Given the description of an element on the screen output the (x, y) to click on. 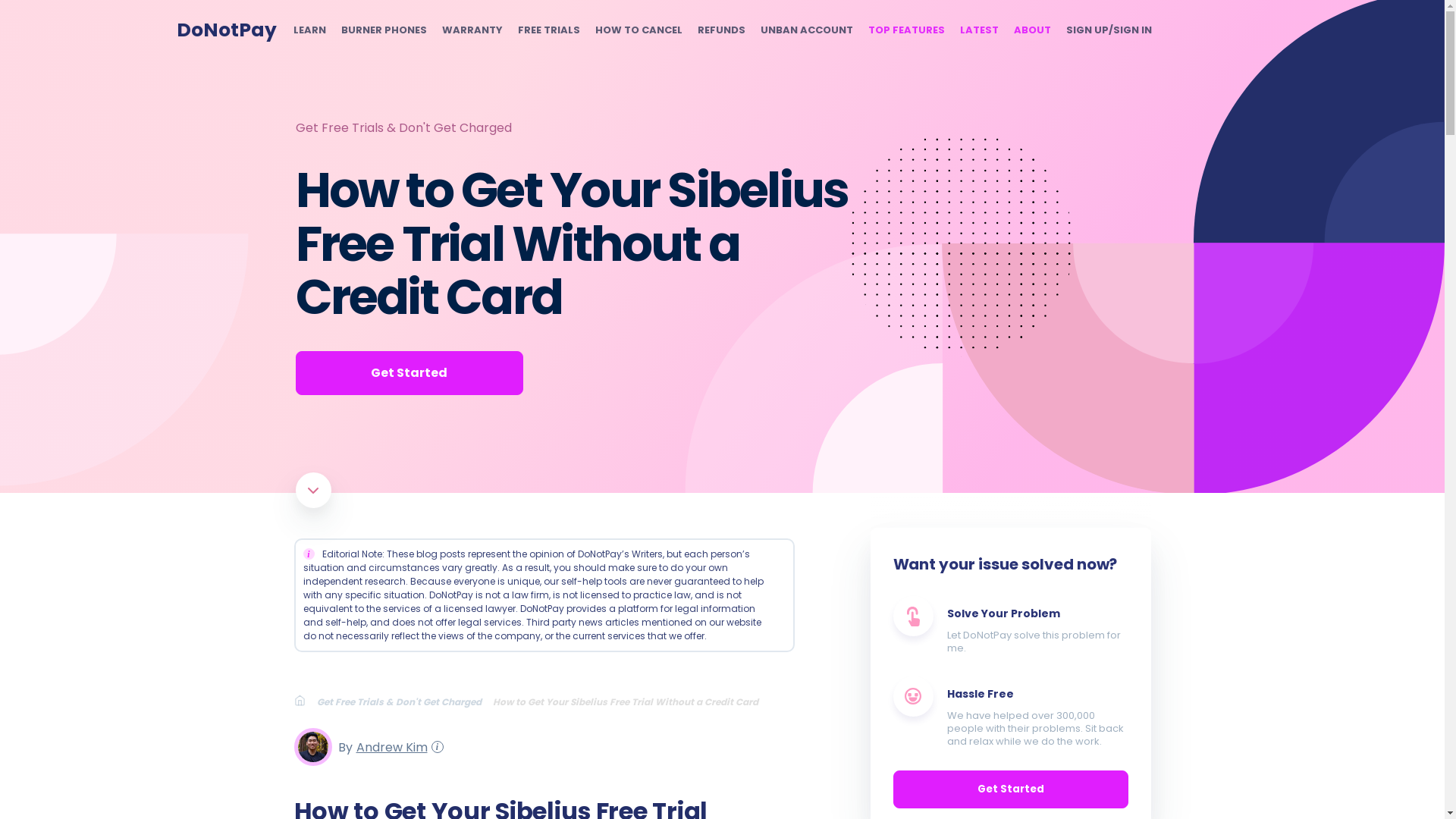
REFUNDS (721, 29)
TOP FEATURES (905, 29)
DoNotPay (226, 29)
UNBAN ACCOUNT (805, 29)
ABOUT (1031, 29)
HOW TO CANCEL (637, 29)
LATEST (978, 29)
LEARN (308, 29)
Get Started (408, 372)
BURNER PHONES (383, 29)
FREE TRIALS (547, 29)
Andrew Kim (389, 746)
WARRANTY (471, 29)
